Given the description of an element on the screen output the (x, y) to click on. 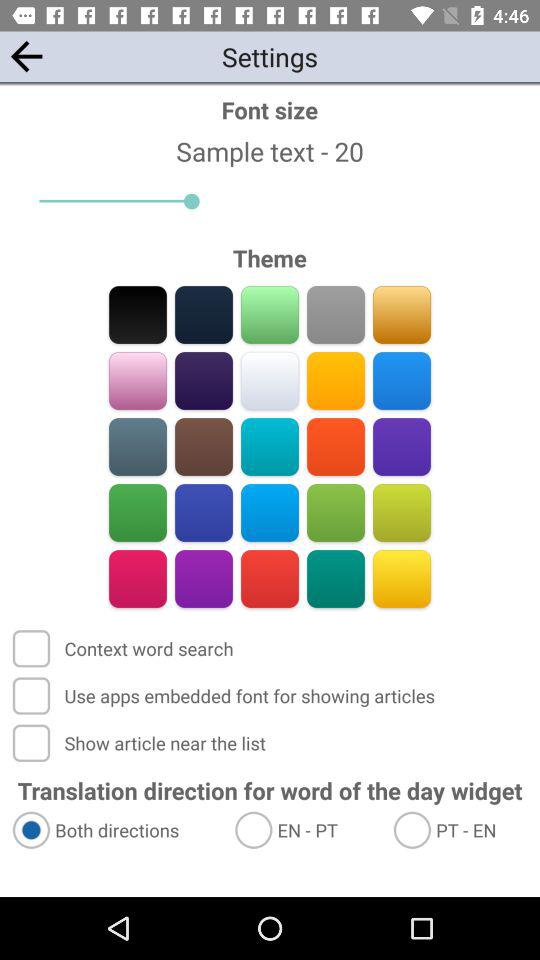
theme color option (401, 380)
